Given the description of an element on the screen output the (x, y) to click on. 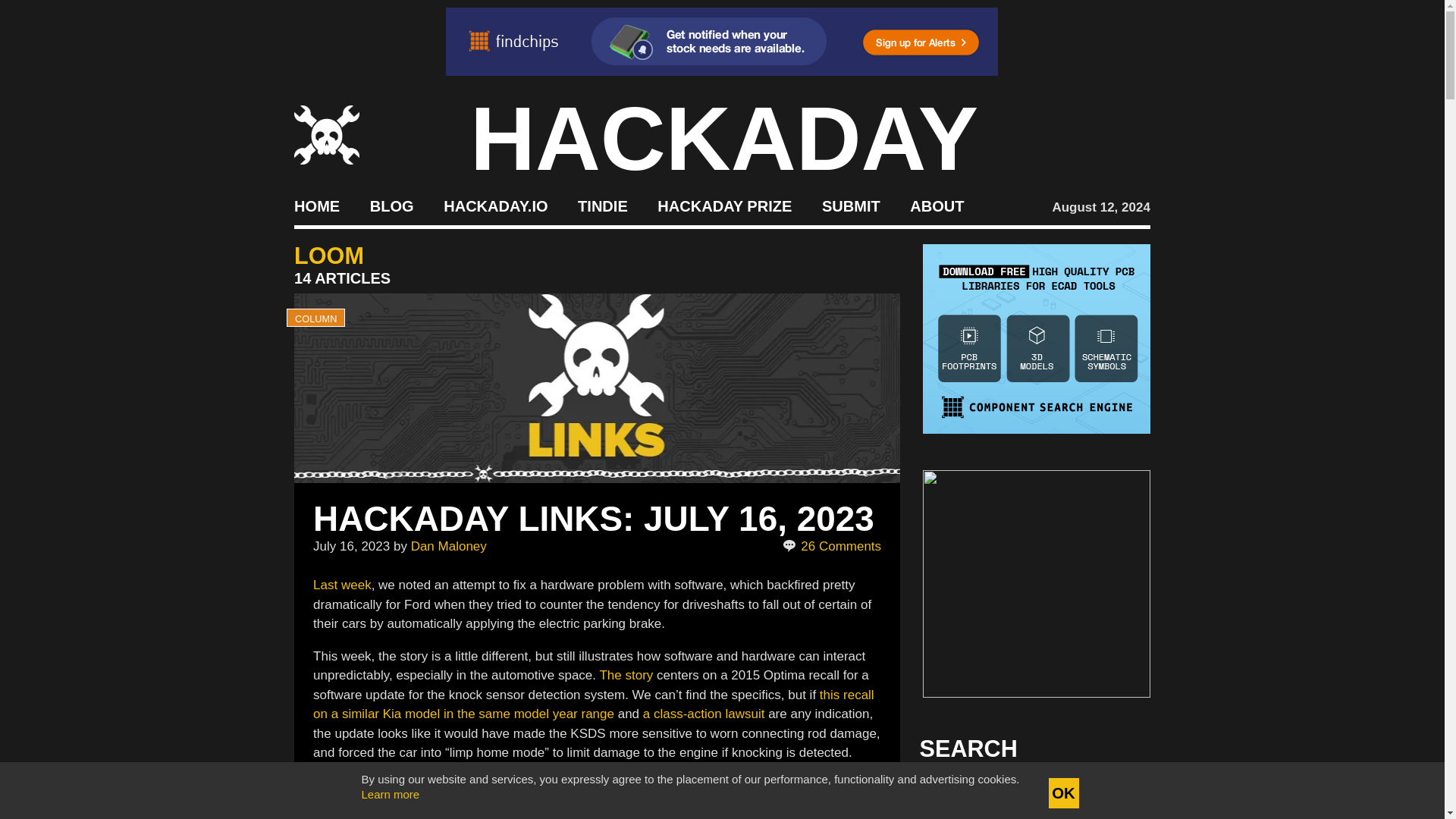
26 Comments (832, 546)
ABOUT (936, 205)
Build Something that Matters (725, 205)
The story (625, 675)
Posts by Dan Maloney (448, 545)
HACKADAY PRIZE (725, 205)
July 16, 2023 - 4:00 pm (351, 545)
July 16, 2023 (351, 545)
HACKADAY.IO (495, 205)
